Given the description of an element on the screen output the (x, y) to click on. 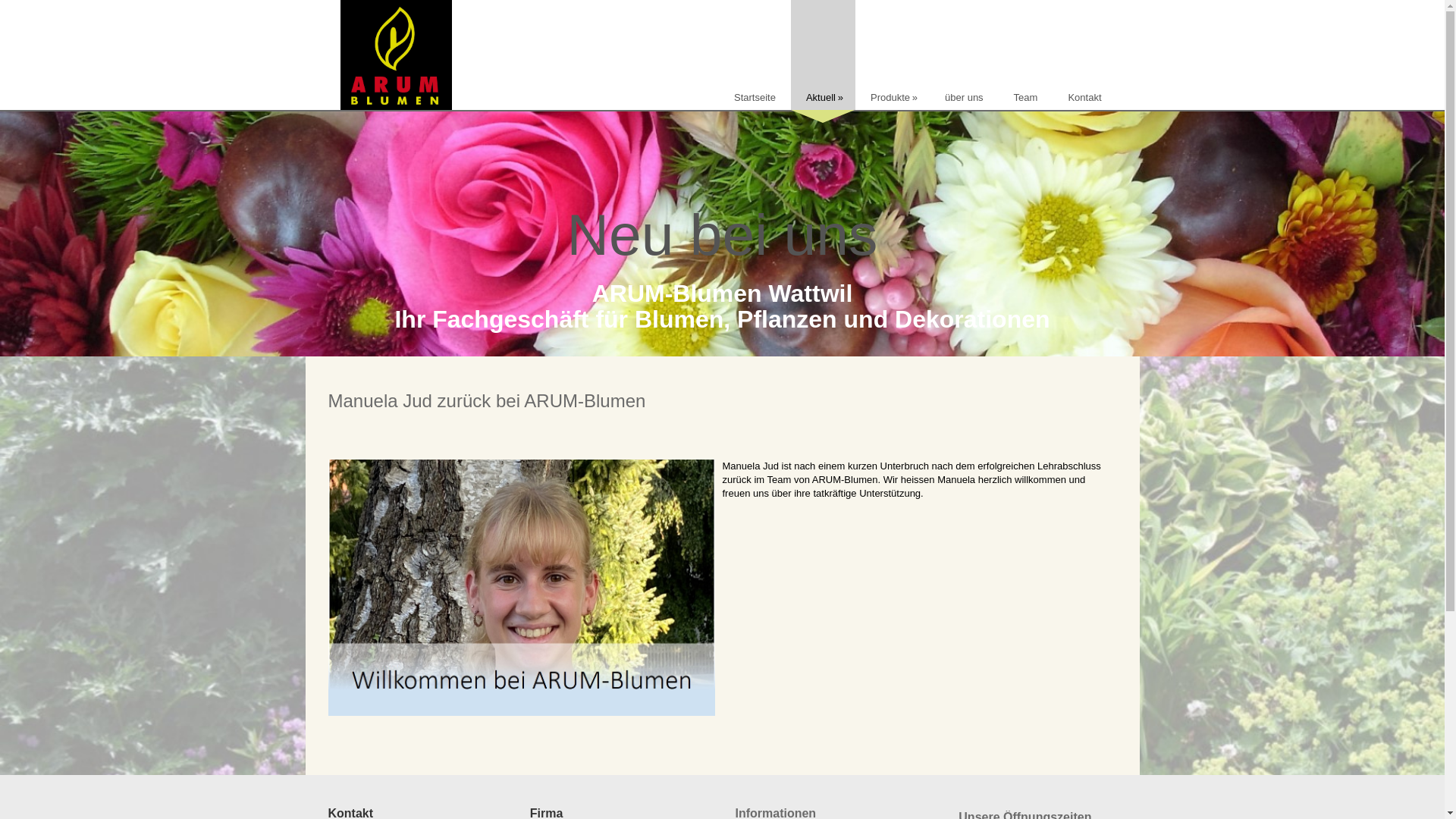
Produkte Element type: text (892, 54)
Kontakt Element type: text (1084, 54)
Aktuell Element type: text (822, 54)
Startseite Element type: text (754, 54)
Team Element type: text (1025, 54)
